Given the description of an element on the screen output the (x, y) to click on. 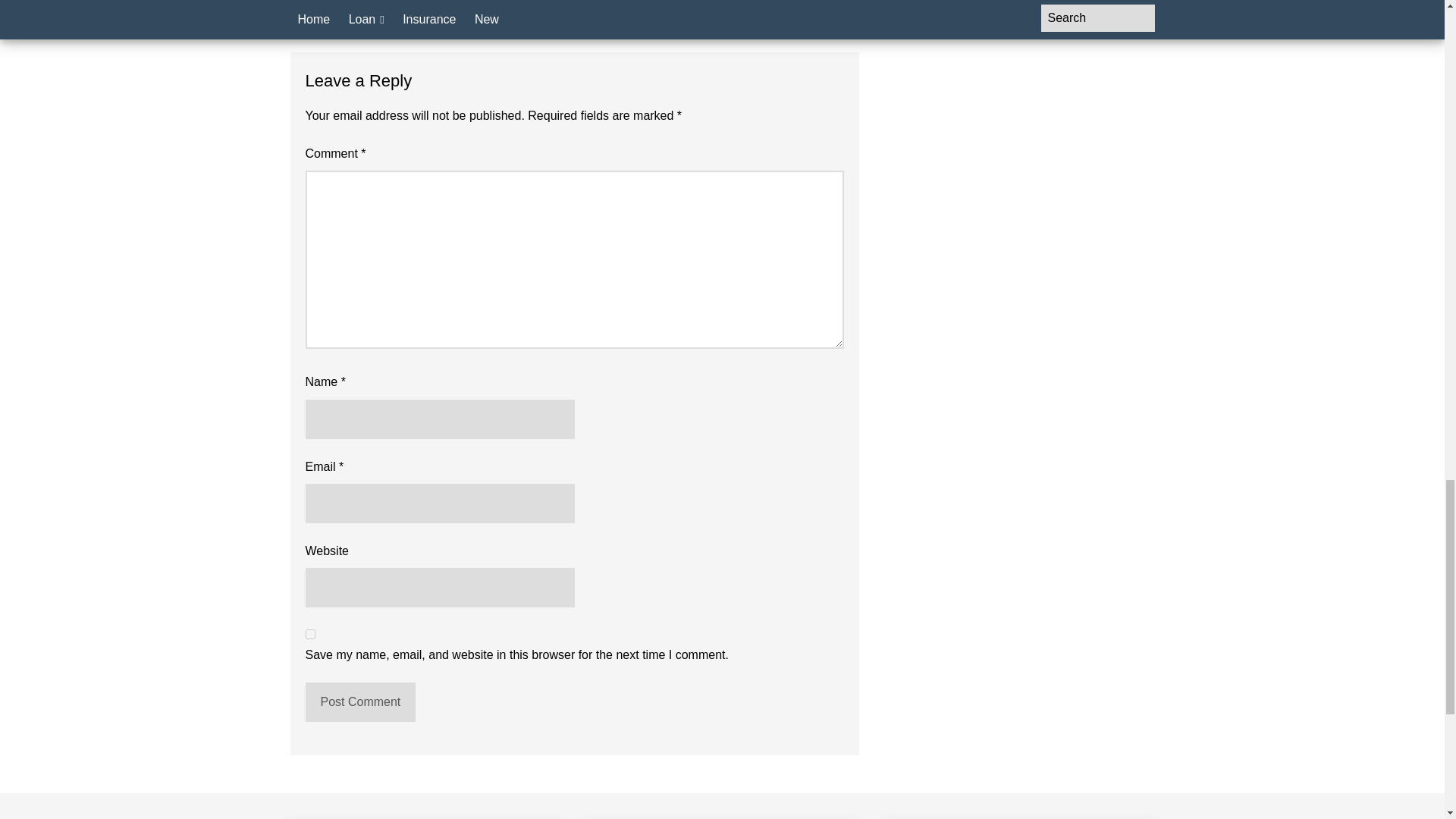
Post Comment (359, 701)
yes (309, 634)
Post Comment (359, 701)
